Given the description of an element on the screen output the (x, y) to click on. 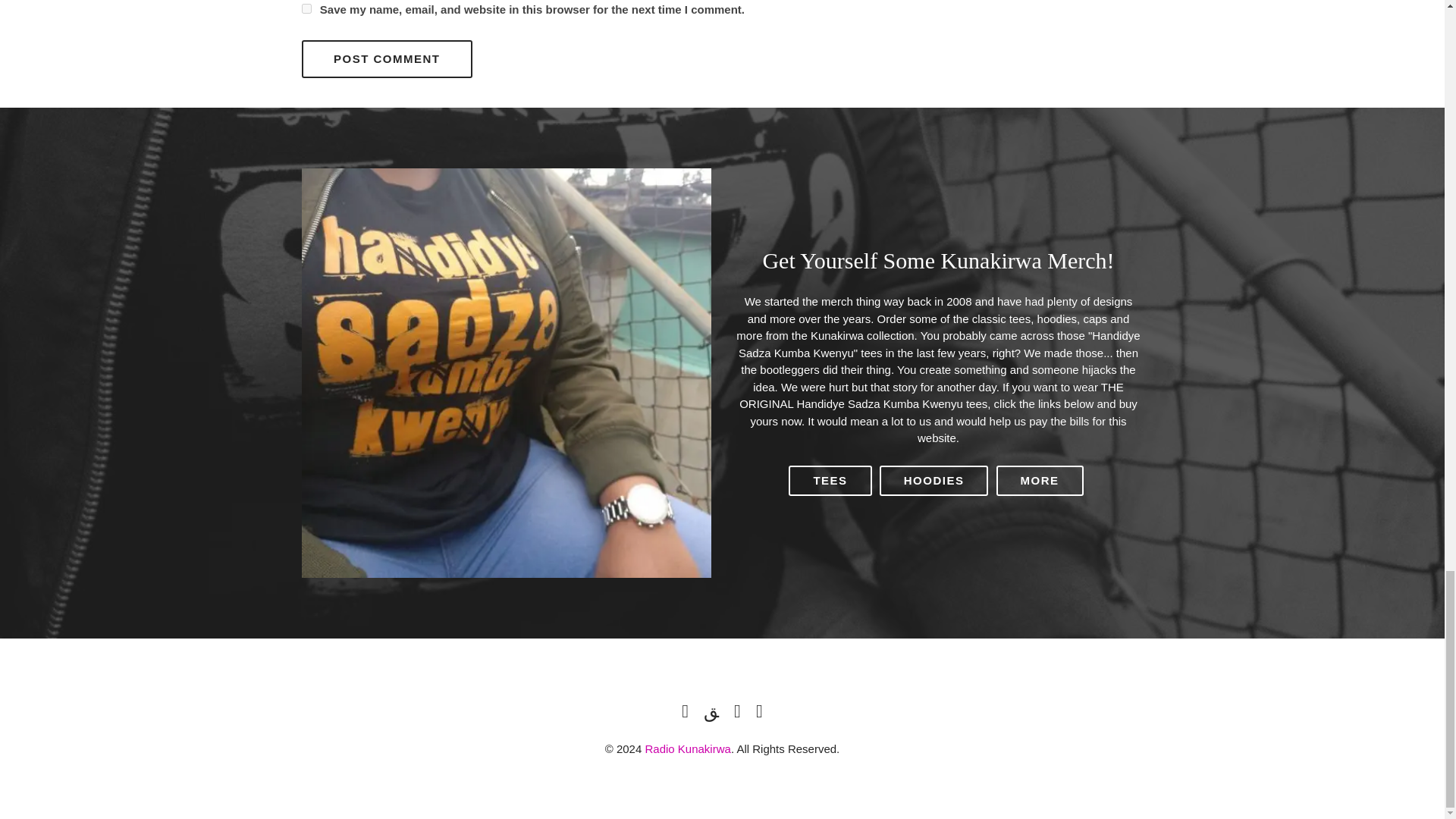
Post Comment (387, 58)
yes (306, 8)
Facebook Profile (737, 711)
Post Comment (387, 58)
YouTube Channel (759, 711)
